Given the description of an element on the screen output the (x, y) to click on. 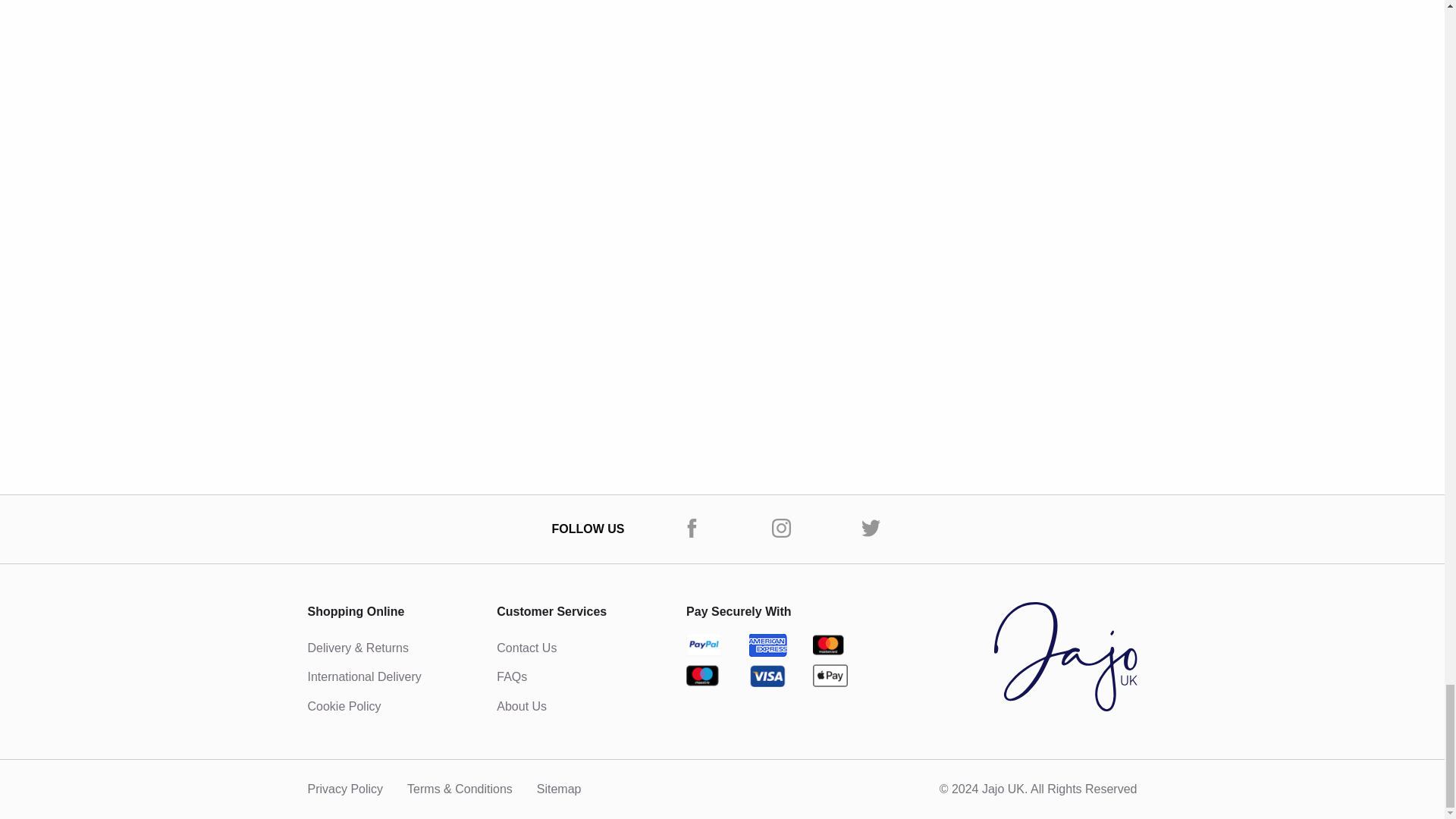
Instagram icon Link to instagram (780, 527)
Facebook Icon Link to facebook (691, 527)
Twitter Icon Twitter icon, links to twitter (870, 527)
